Given the description of an element on the screen output the (x, y) to click on. 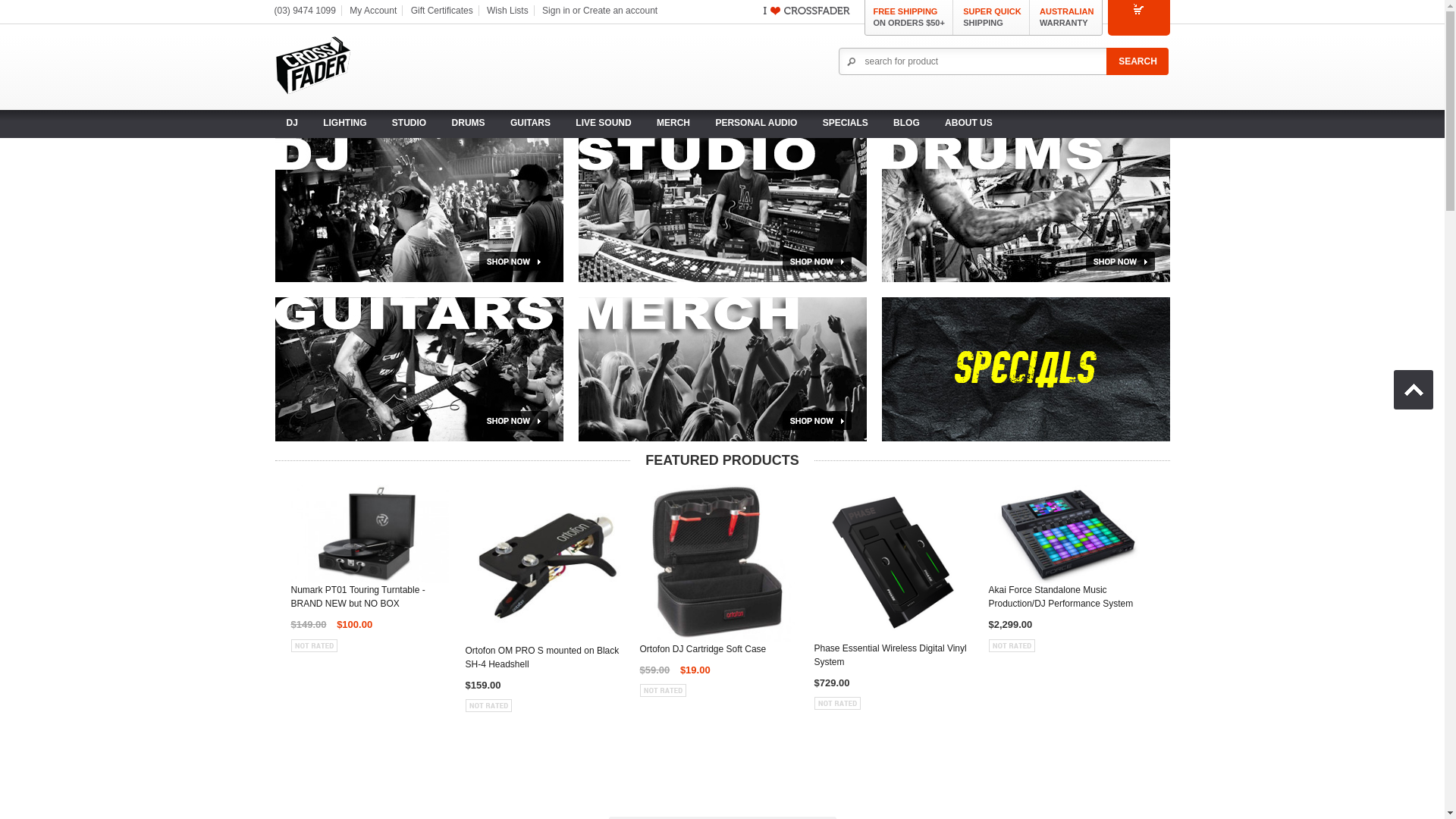
Ortofon DJ Cartridge Soft Case Element type: text (718, 652)
Wish Lists Element type: text (507, 10)
Phase Essential Wireless Digital Vinyl System Element type: text (893, 658)
PERSONAL AUDIO Element type: text (755, 122)
Drums + Percussion Element type: hover (1025, 210)
Akai Force Standalone Music Production/DJ Performance System Element type: text (1067, 600)
My Account Element type: text (372, 10)
DRUMS Element type: text (468, 122)
Create an account Element type: text (620, 10)
AUSTRALIAN
WARRANTY Element type: text (1066, 17)
Search Element type: hover (1137, 61)
Merch Element type: hover (721, 369)
LIGHTING Element type: text (344, 122)
Crossfader Specials Element type: hover (1025, 369)
SPECIALS Element type: text (845, 122)
GUITARS Element type: text (529, 122)
Ortofon OM PRO S mounted on Black SH-4 Headshell Element type: text (544, 660)
BLOG Element type: text (906, 122)
MERCH Element type: text (673, 122)
LIVE SOUND Element type: text (603, 122)
SUPER QUICK
SHIPPING Element type: text (991, 17)
Gift Certificates Element type: text (442, 10)
Sign in Element type: text (556, 10)
DJ Element type: text (291, 122)
Back to Top Element type: text (1413, 389)
SEARCH Element type: text (1137, 61)
STUDIO Element type: text (408, 122)
View Cart Element type: hover (1138, 8)
Studio Element type: hover (721, 210)
ABOUT US Element type: text (968, 122)
DJ Element type: hover (418, 210)
View Cart Element type: hover (1138, 16)
Guitars Element type: hover (418, 369)
FREE SHIPPING
ON ORDERS $50+ Element type: text (908, 17)
(03) 9474 1099 Element type: text (304, 10)
Numark PT01 Touring Turntable - BRAND NEW but NO BOX Element type: text (369, 600)
